Given the description of an element on the screen output the (x, y) to click on. 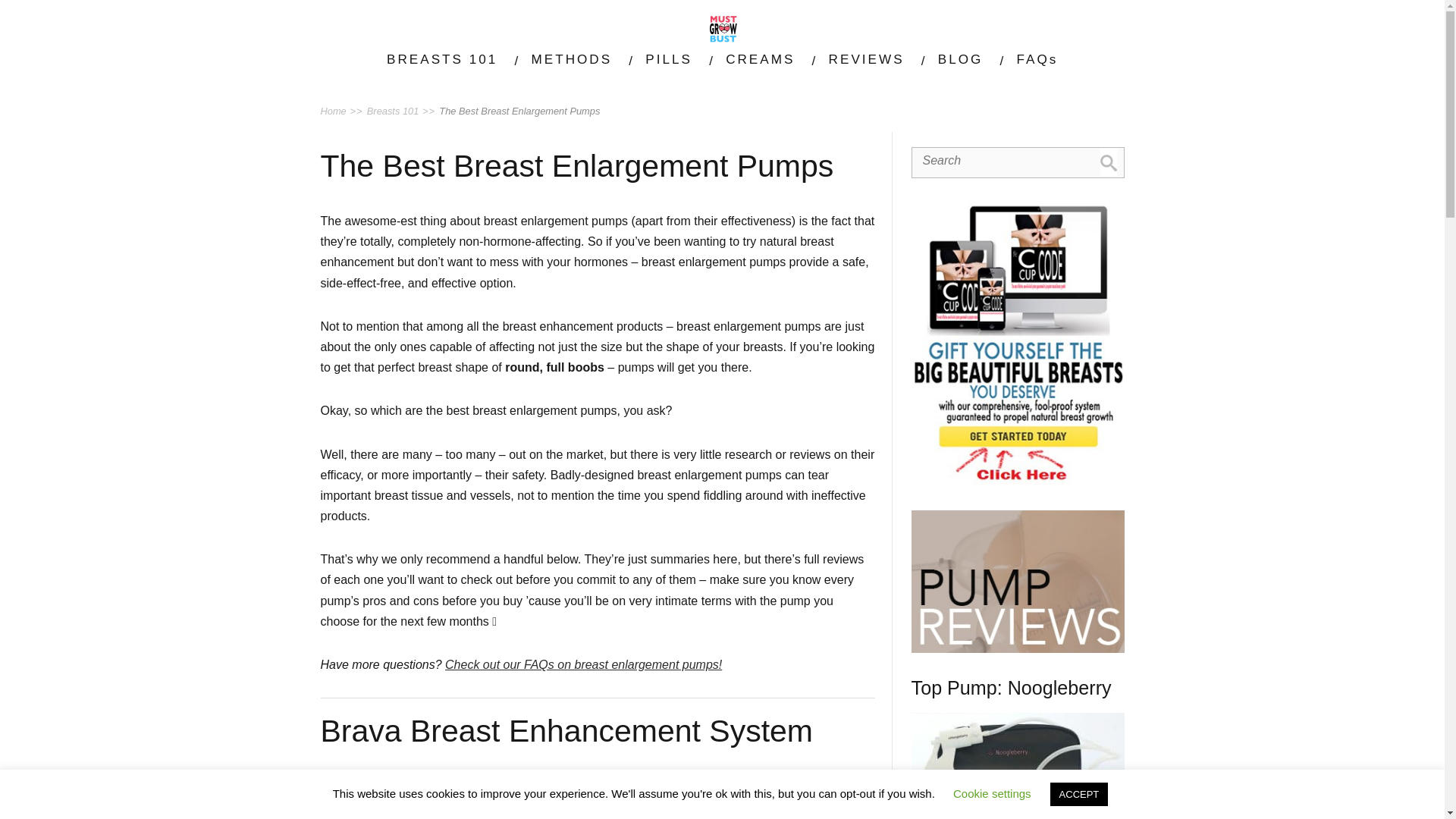
REVIEWS (866, 58)
METHODS (571, 58)
BLOG (960, 58)
CREAMS (759, 58)
Check out our FAQs on breast enlargement pumps! (583, 664)
brava (398, 798)
BREASTS 101 (442, 58)
FAQs (1036, 58)
PILLS (668, 58)
